Given the description of an element on the screen output the (x, y) to click on. 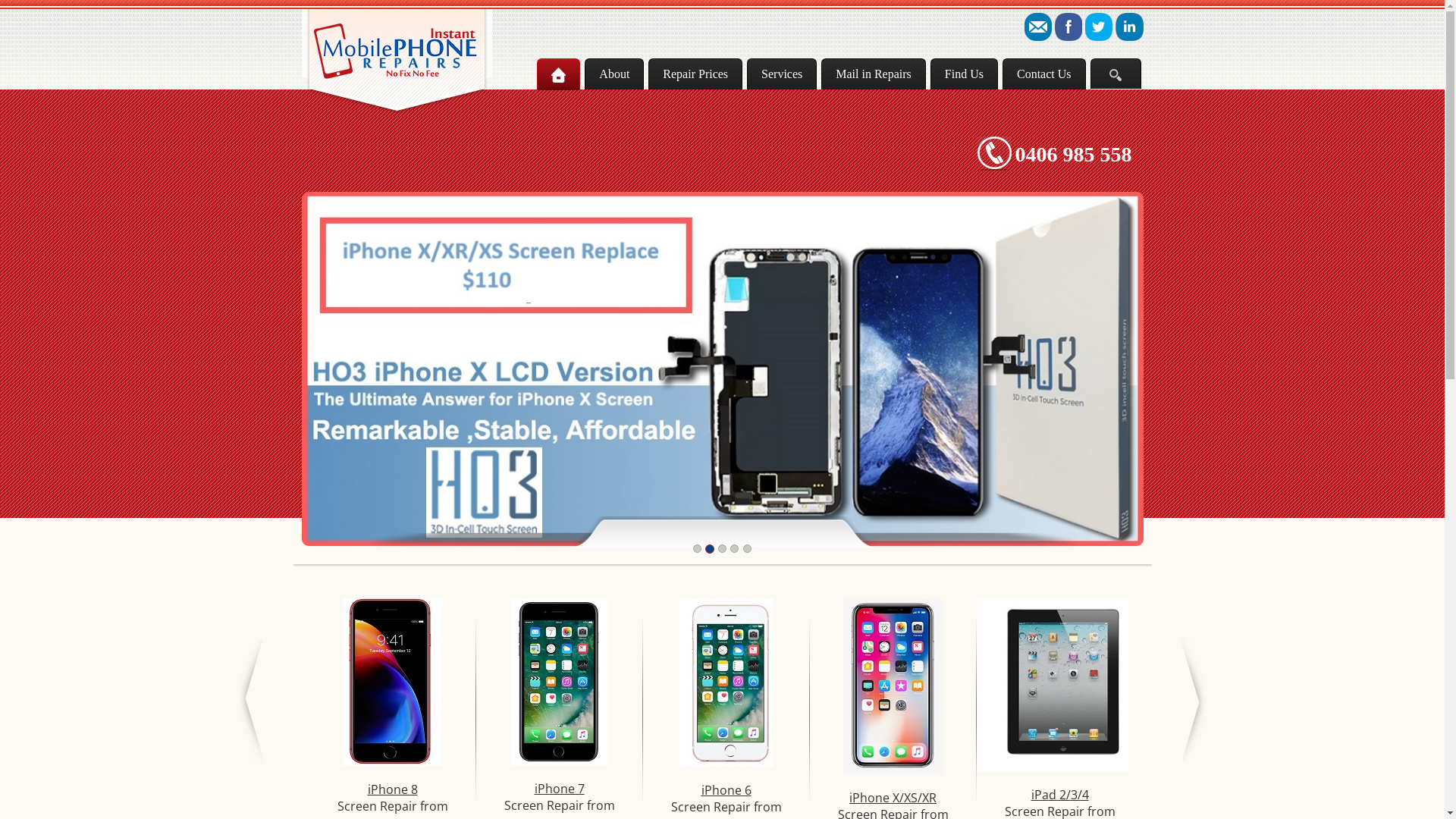
Find Us Element type: text (963, 73)
Contact Us Element type: text (1043, 73)
Mail in Repairs Element type: text (873, 73)
Repair Prices Element type: text (695, 73)
About Element type: text (613, 73)
Services Element type: text (781, 73)
